Given the description of an element on the screen output the (x, y) to click on. 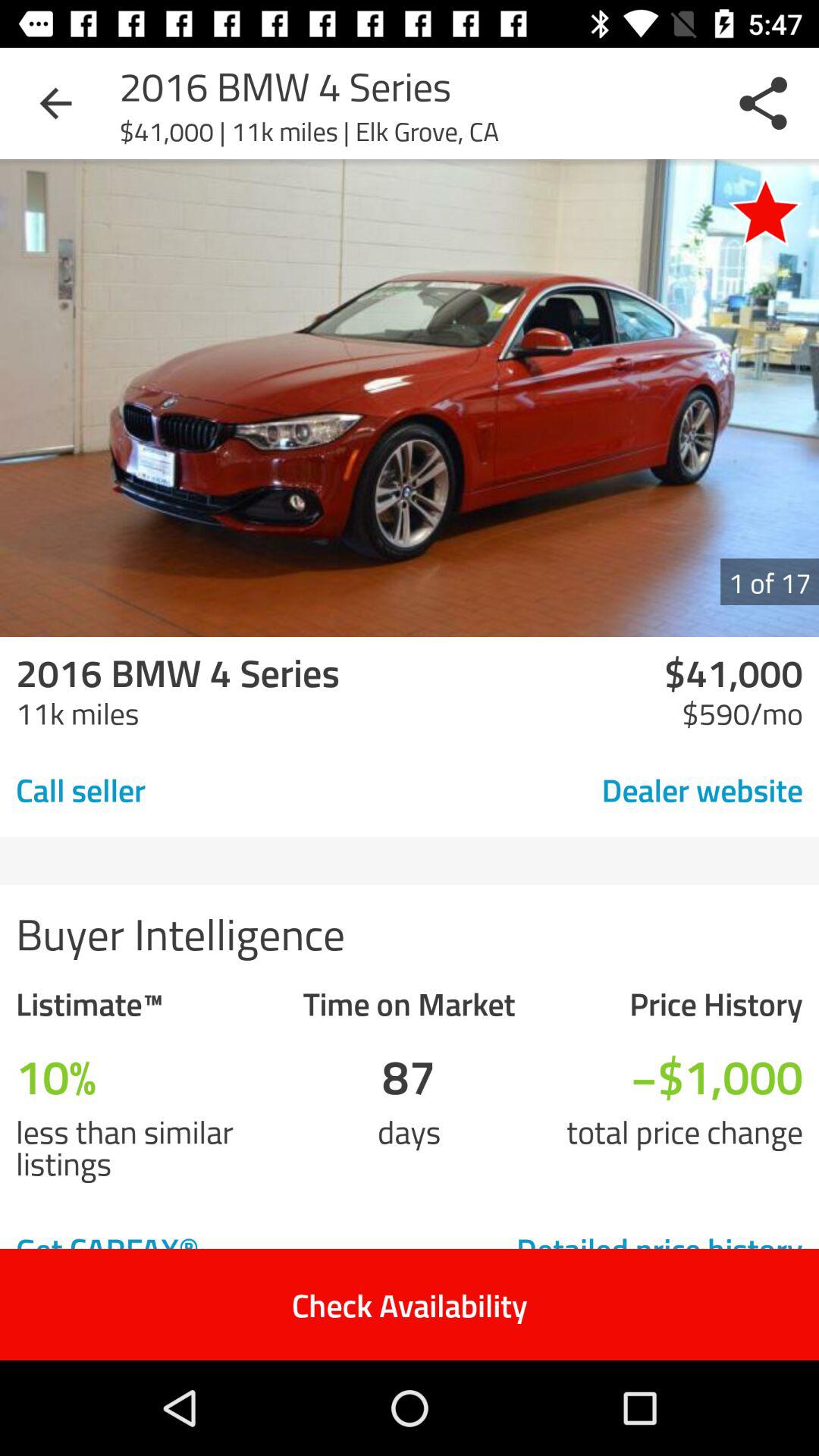
press the item next to 41 000 11k icon (765, 211)
